Given the description of an element on the screen output the (x, y) to click on. 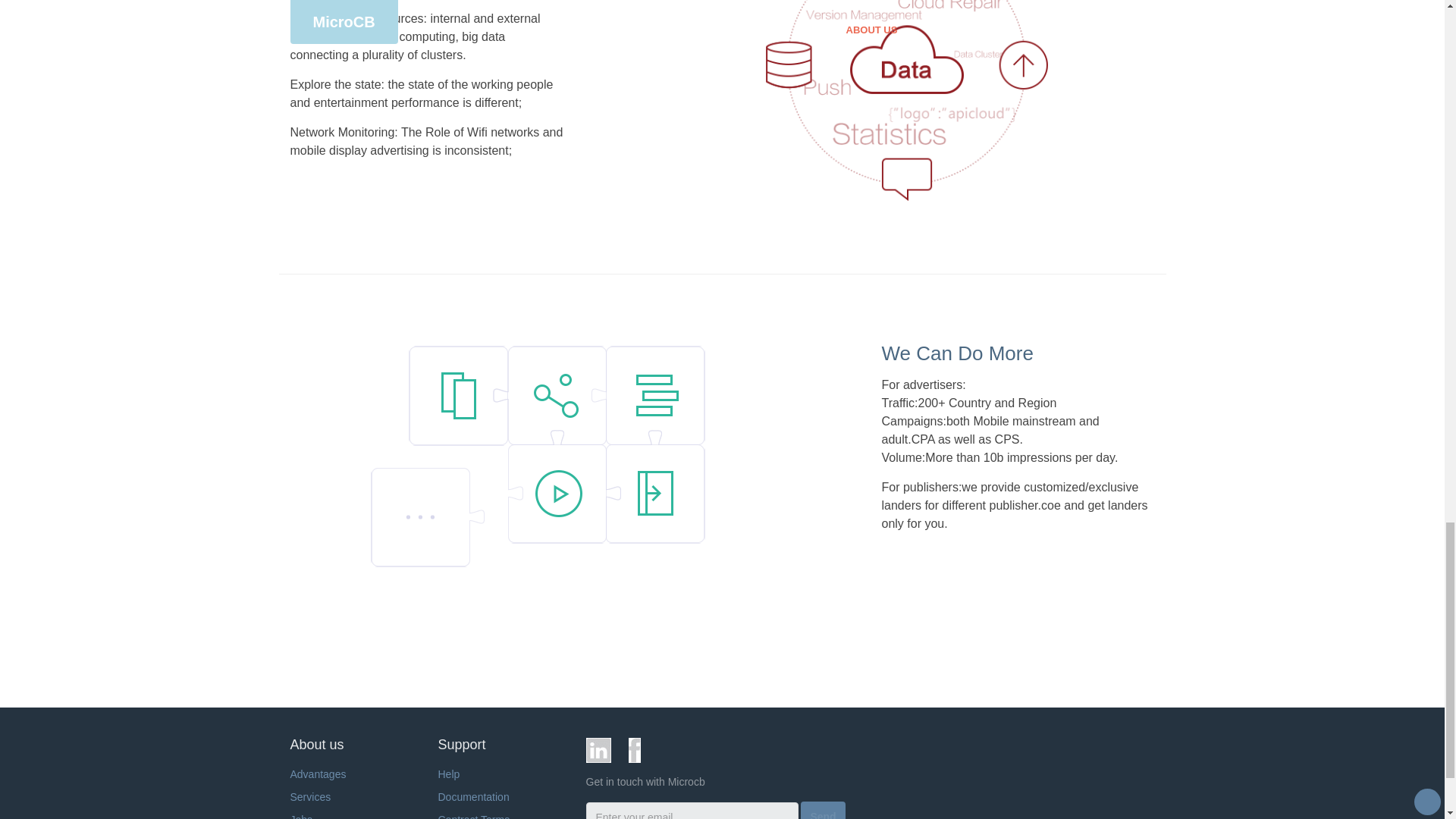
Send (822, 814)
Contract Terms (474, 816)
Documentation (473, 797)
Advantages (317, 774)
Jobs (301, 816)
Send (822, 810)
Services (309, 797)
Help (449, 774)
